Given the description of an element on the screen output the (x, y) to click on. 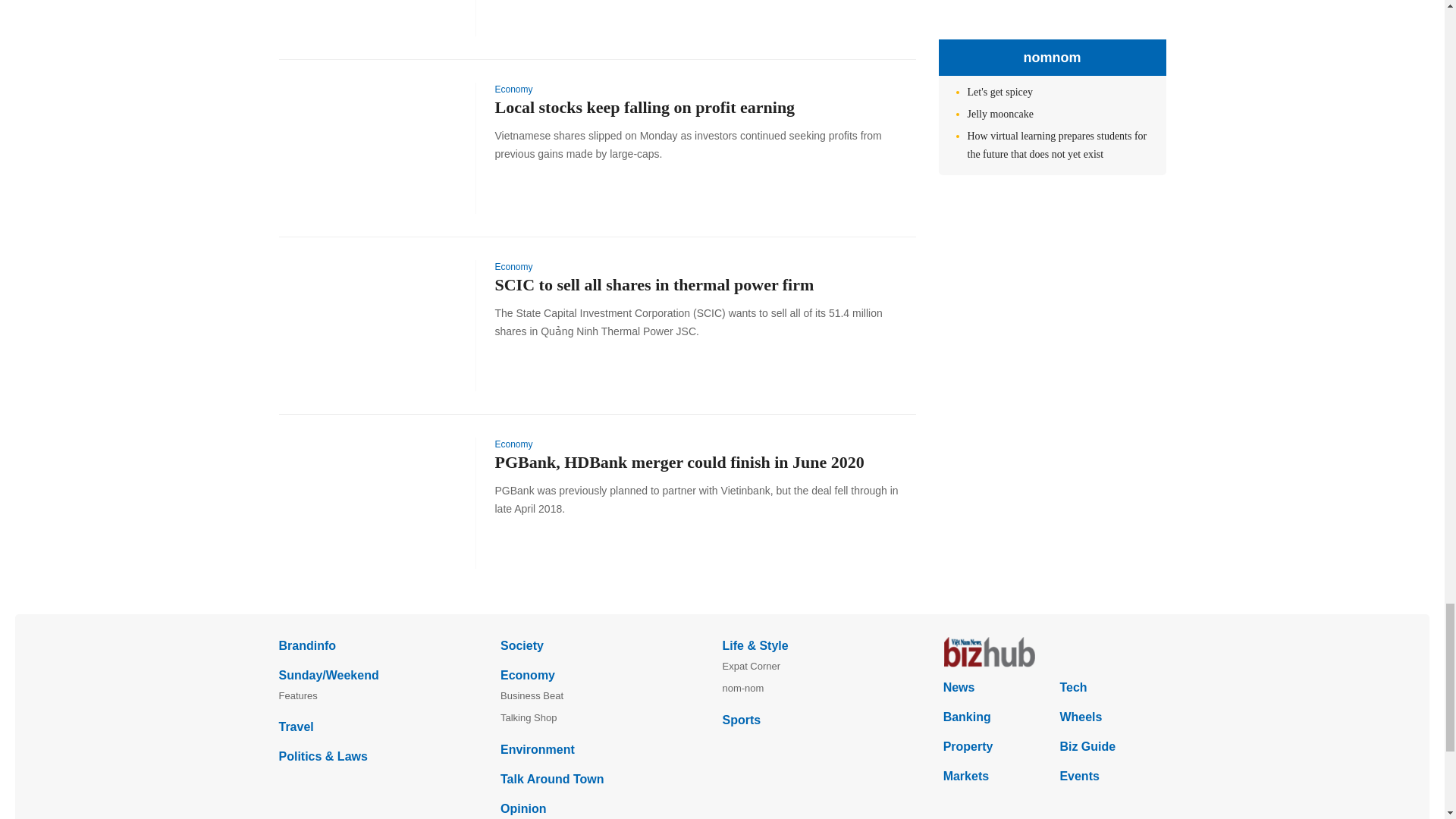
bizhub (1054, 652)
